Given the description of an element on the screen output the (x, y) to click on. 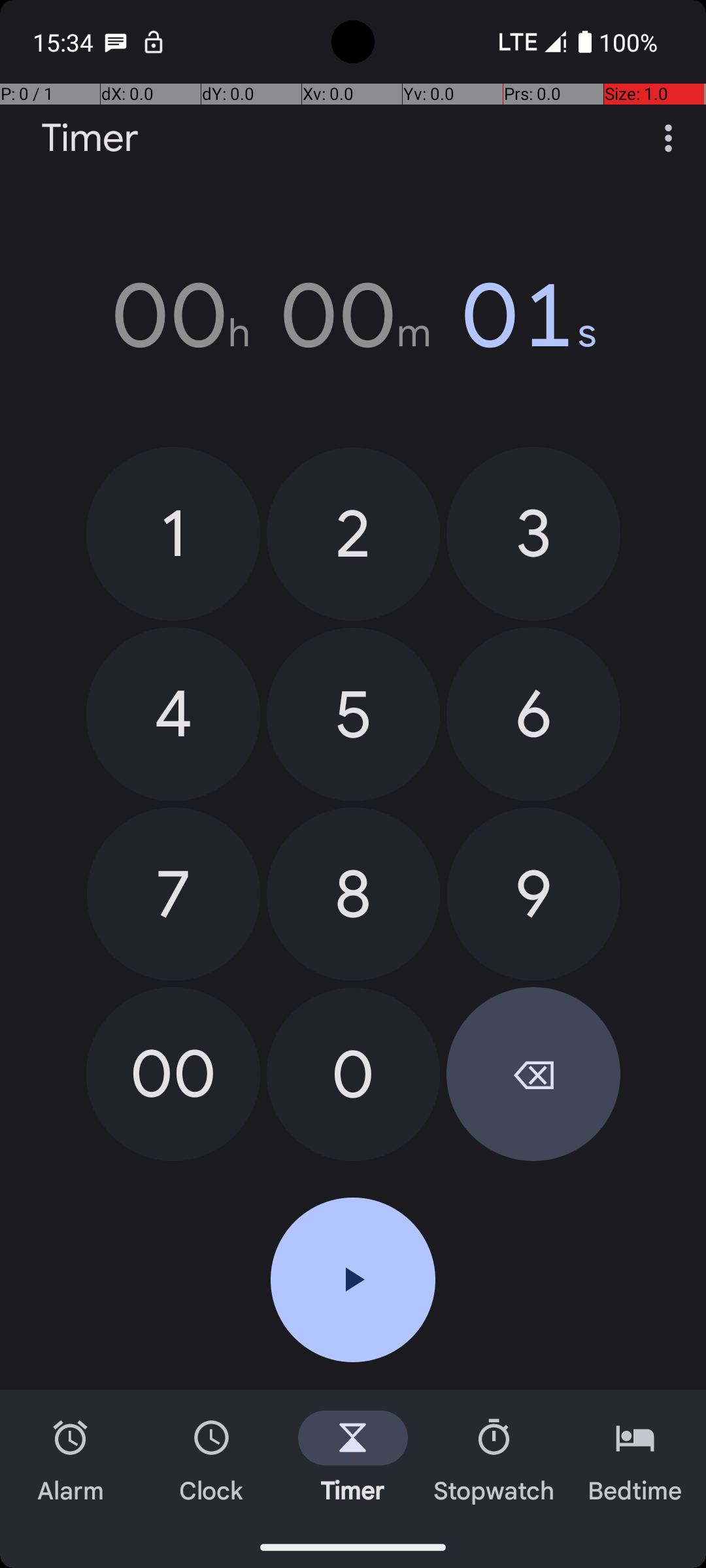
00h 00m 01s Element type: android.widget.TextView (353, 315)
